Given the description of an element on the screen output the (x, y) to click on. 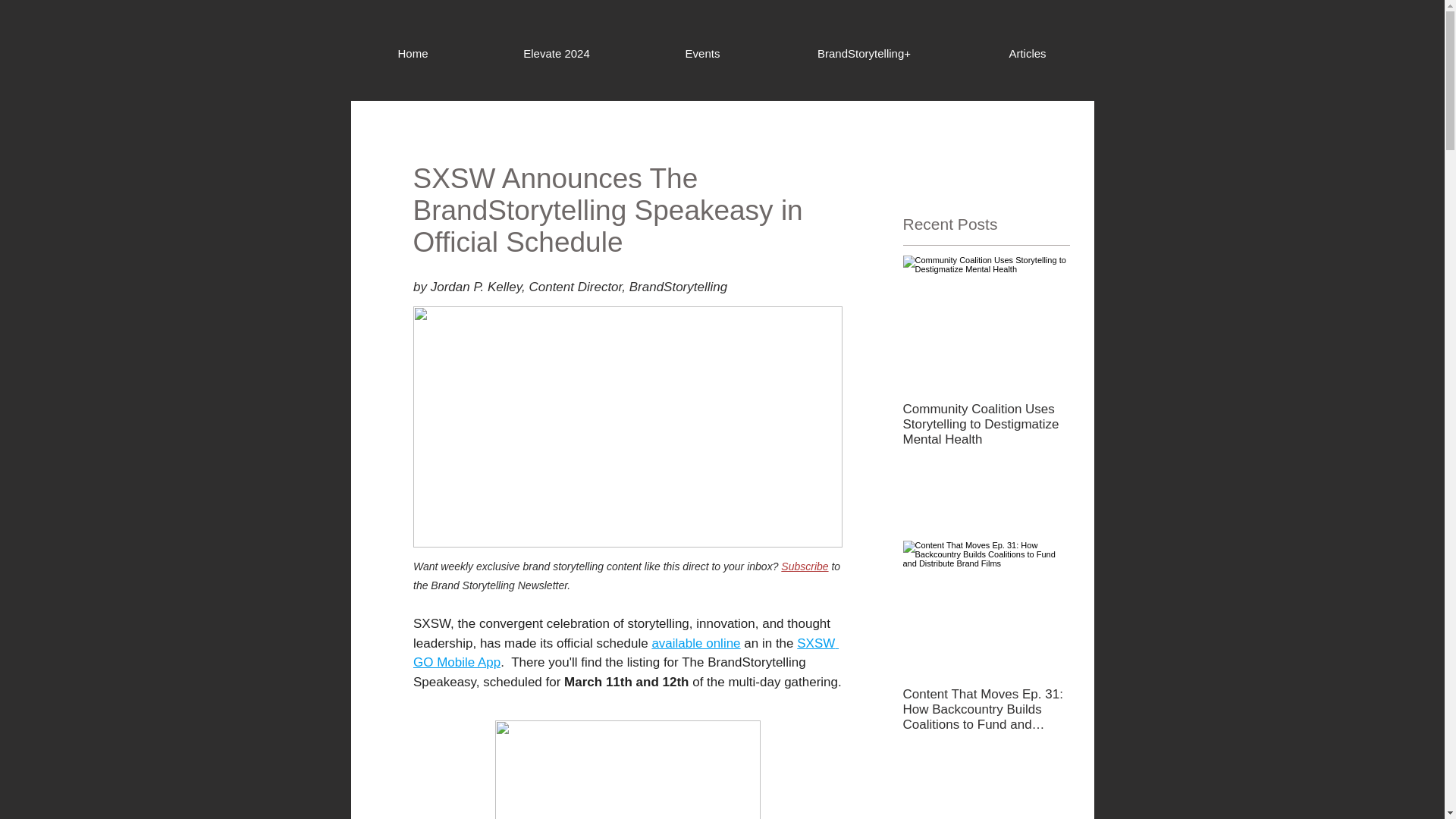
available online (694, 643)
SXSW GO Mobile App (625, 653)
Elevate 2024 (555, 53)
Events (703, 53)
Articles (1027, 53)
Subscribe (804, 565)
Home (412, 53)
